Given the description of an element on the screen output the (x, y) to click on. 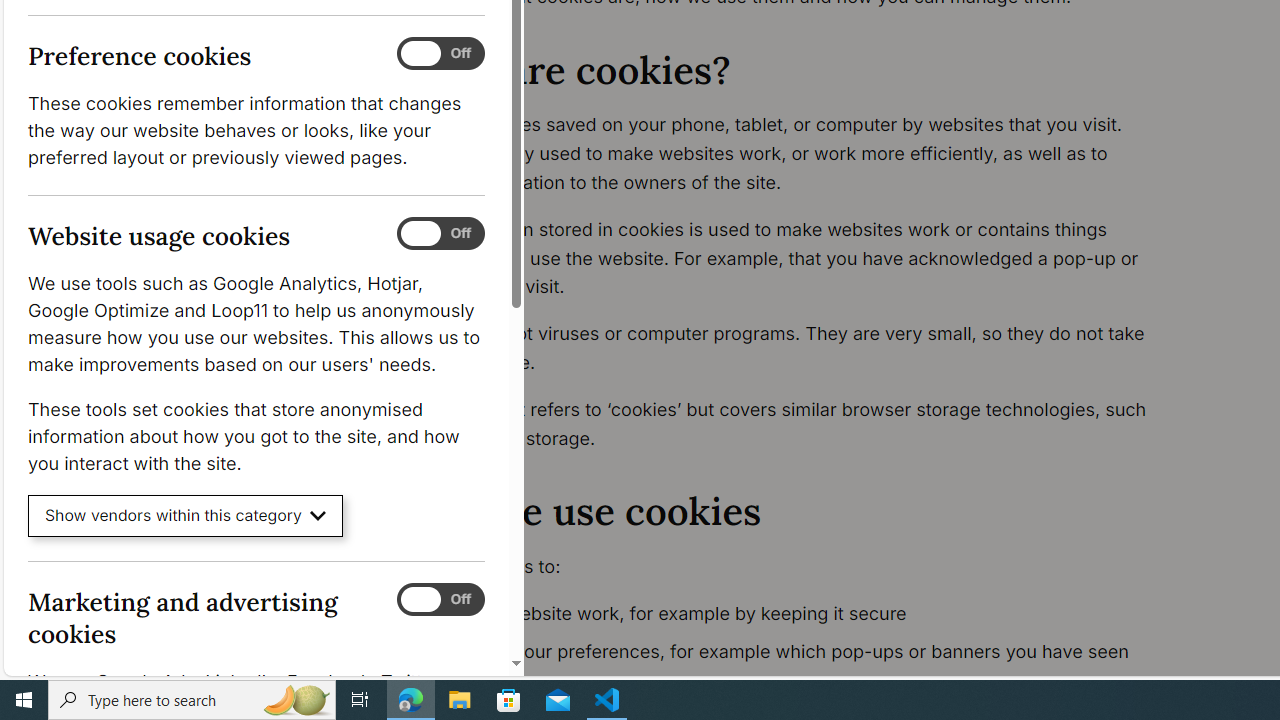
Show vendors within this category (185, 516)
Website usage cookies (440, 233)
Preference cookies (440, 53)
Marketing and advertising cookies (440, 599)
make our website work, for example by keeping it secure (796, 614)
